Given the description of an element on the screen output the (x, y) to click on. 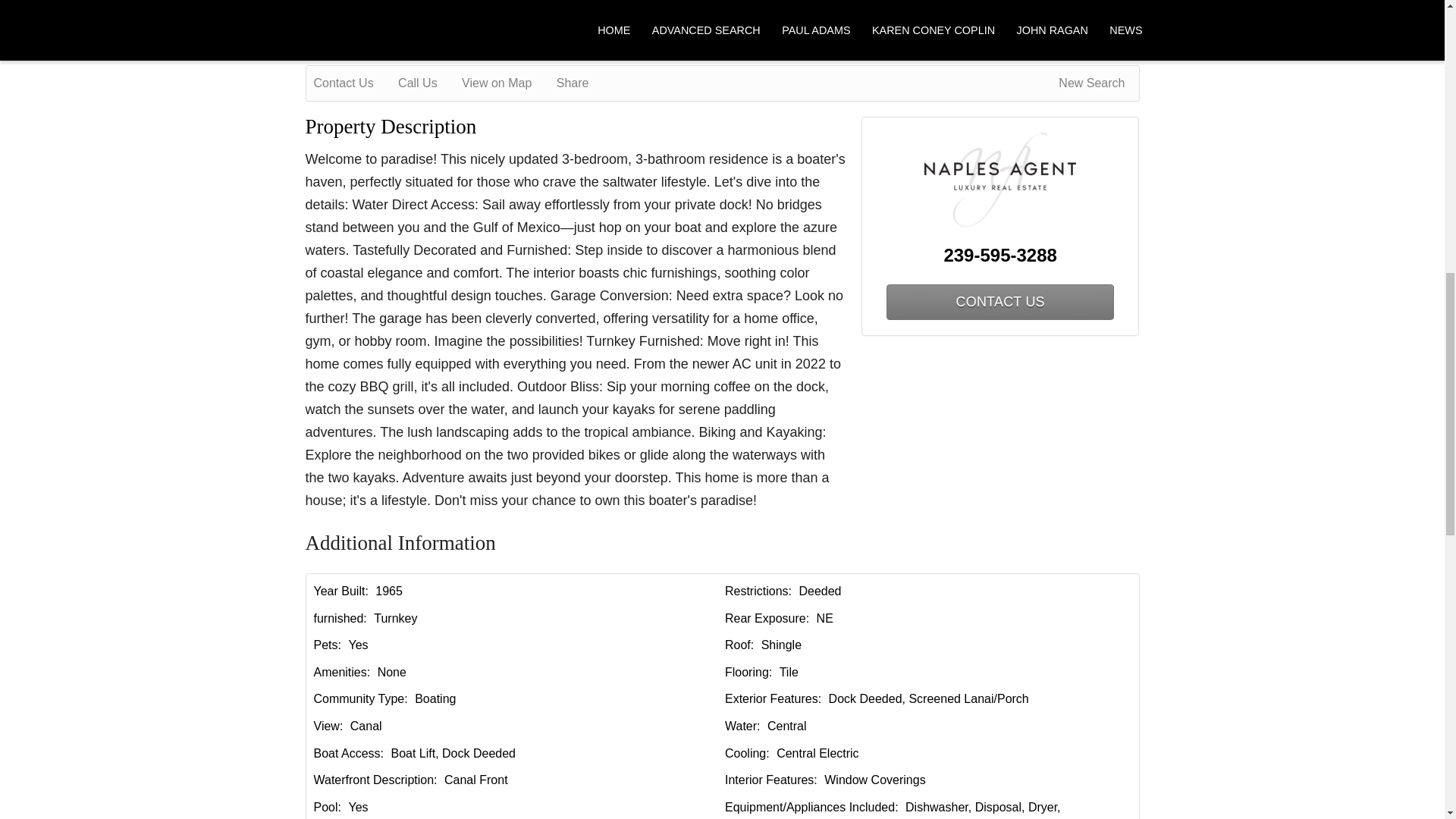
Share (583, 83)
239-595-3288 (1000, 255)
Call Us (427, 83)
New Search (1094, 83)
CONTACT US (999, 302)
View on Map (507, 83)
Contact Us (354, 83)
